Given the description of an element on the screen output the (x, y) to click on. 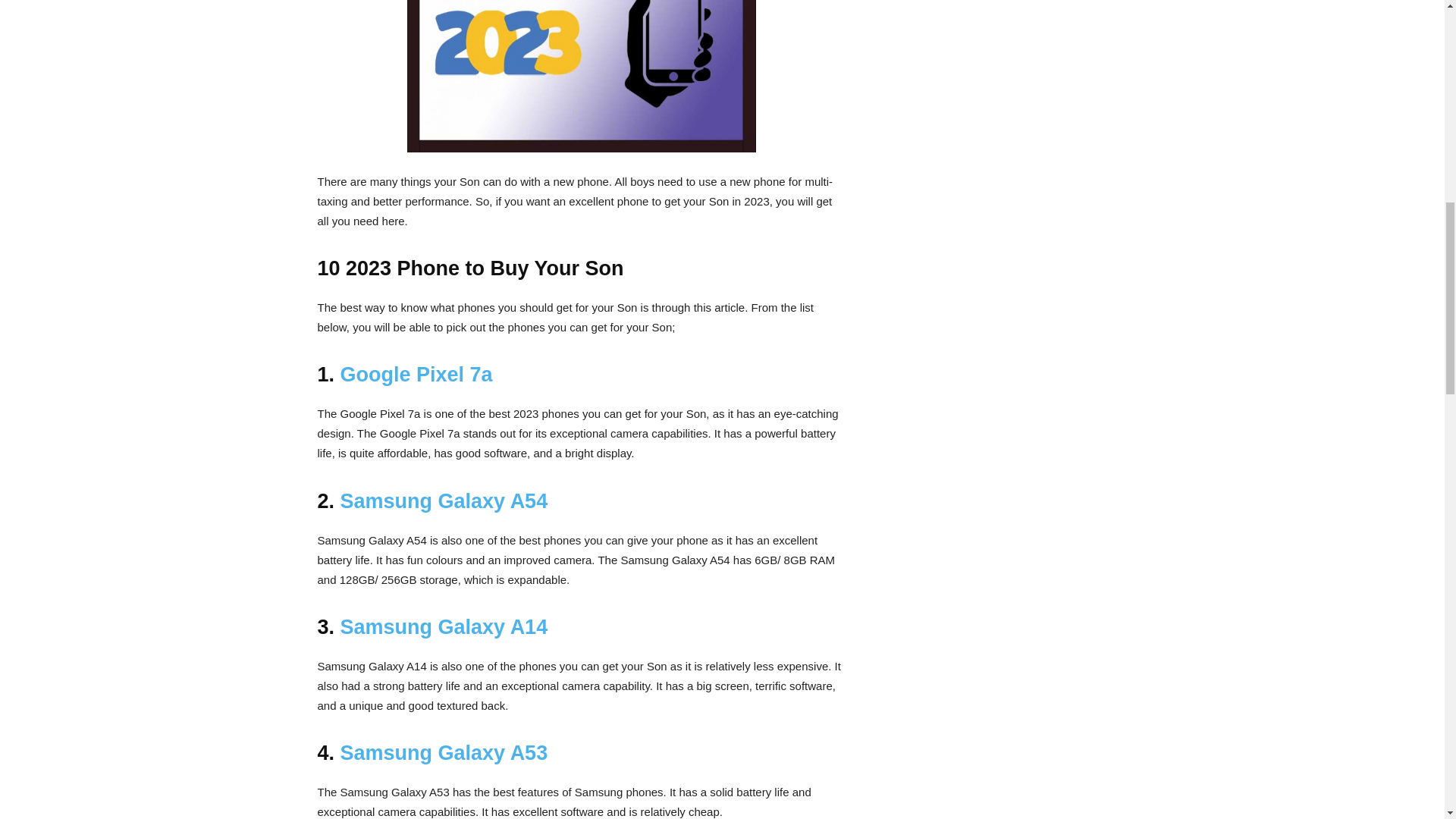
Samsung Galaxy A14 (444, 626)
Samsung Galaxy A53 (444, 753)
Google Pixel 7a (416, 374)
Samsung Galaxy A54 (444, 500)
